Given the description of an element on the screen output the (x, y) to click on. 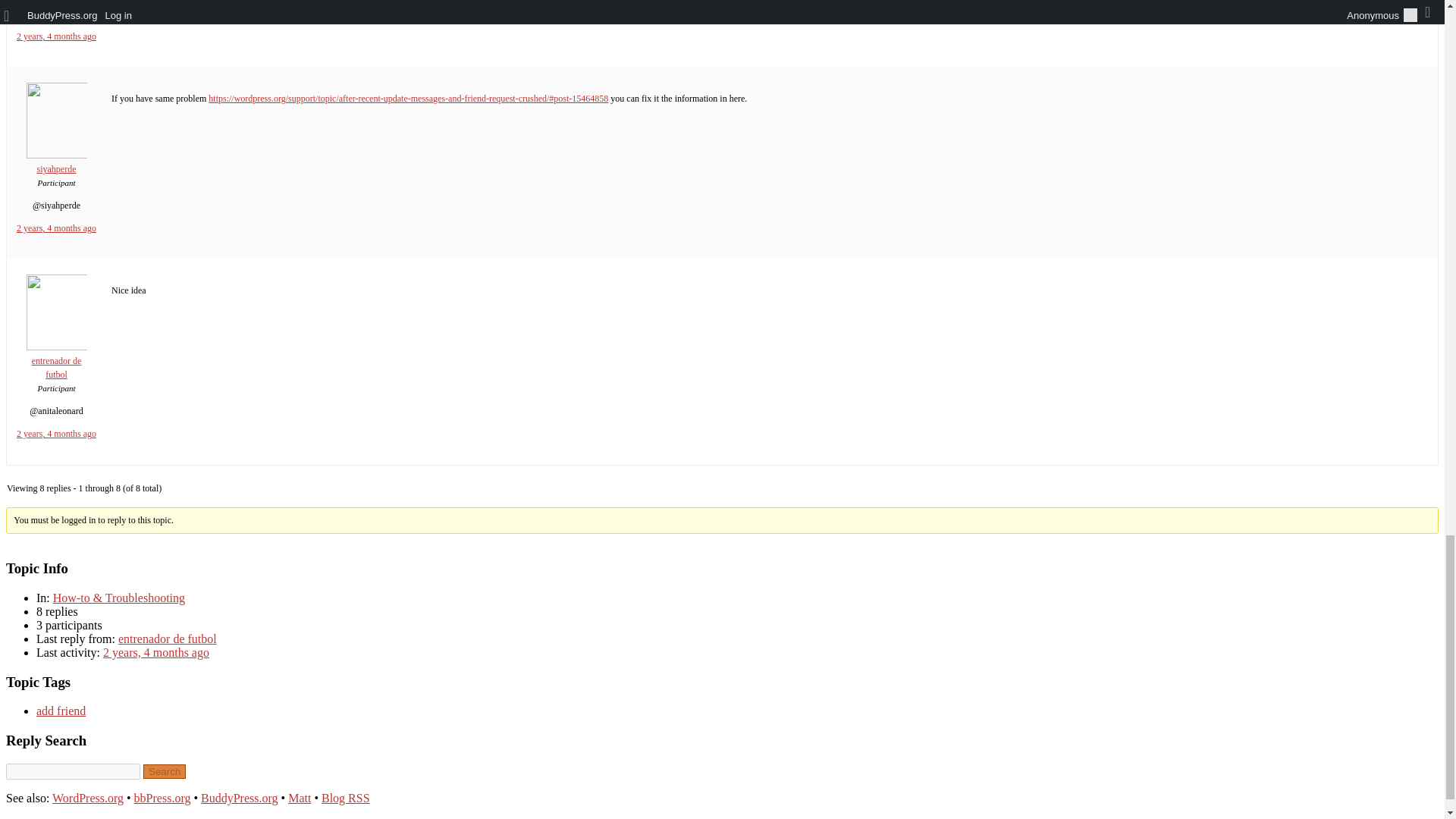
2 years, 4 months ago (56, 36)
2 years, 4 months ago (56, 433)
Search (164, 771)
entrenador de futbol (56, 361)
2 years, 4 months ago (56, 227)
siyahperde (56, 162)
entrenador de futbol (166, 638)
